Given the description of an element on the screen output the (x, y) to click on. 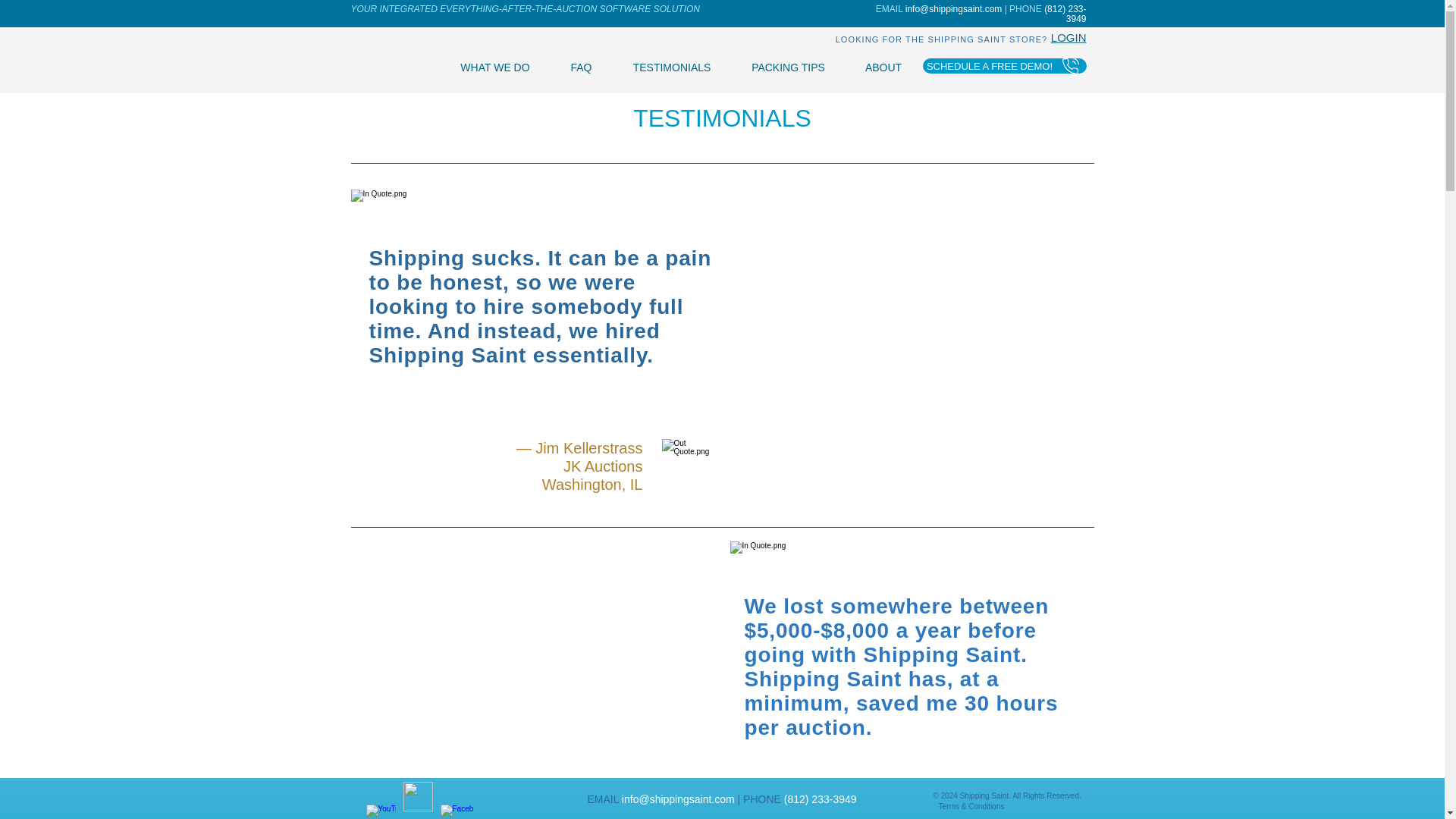
EMAIL (890, 9)
WHAT WE DO (494, 67)
LOGIN (1068, 37)
PACKING TIPS (787, 67)
ABOUT (882, 67)
TESTIMONIALS (672, 67)
EMAIL (602, 799)
LOOKING FOR THE SHIPPING SAINT STORE? (942, 38)
FAQ (581, 67)
SCHEDULE A FREE DEMO! (1003, 65)
